Given the description of an element on the screen output the (x, y) to click on. 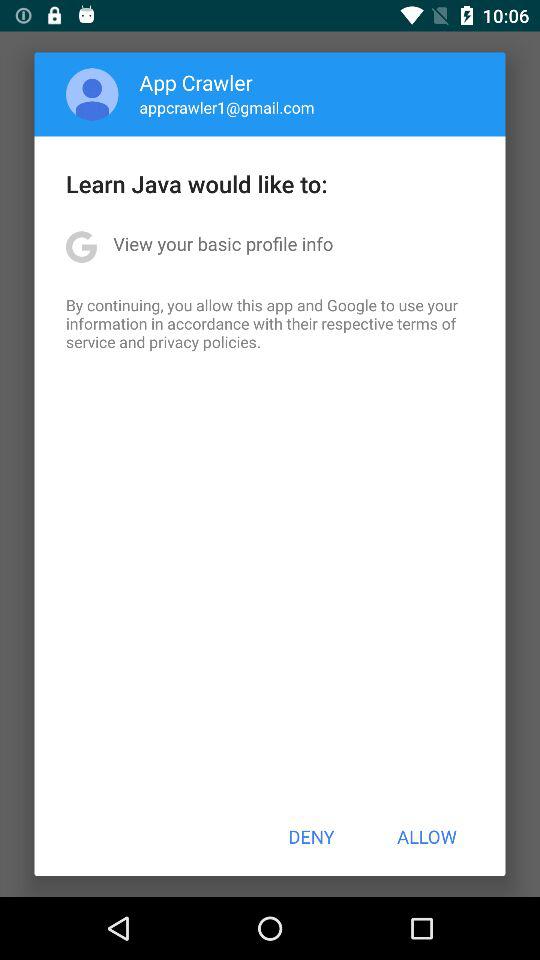
choose item to the left of the app crawler icon (92, 94)
